Given the description of an element on the screen output the (x, y) to click on. 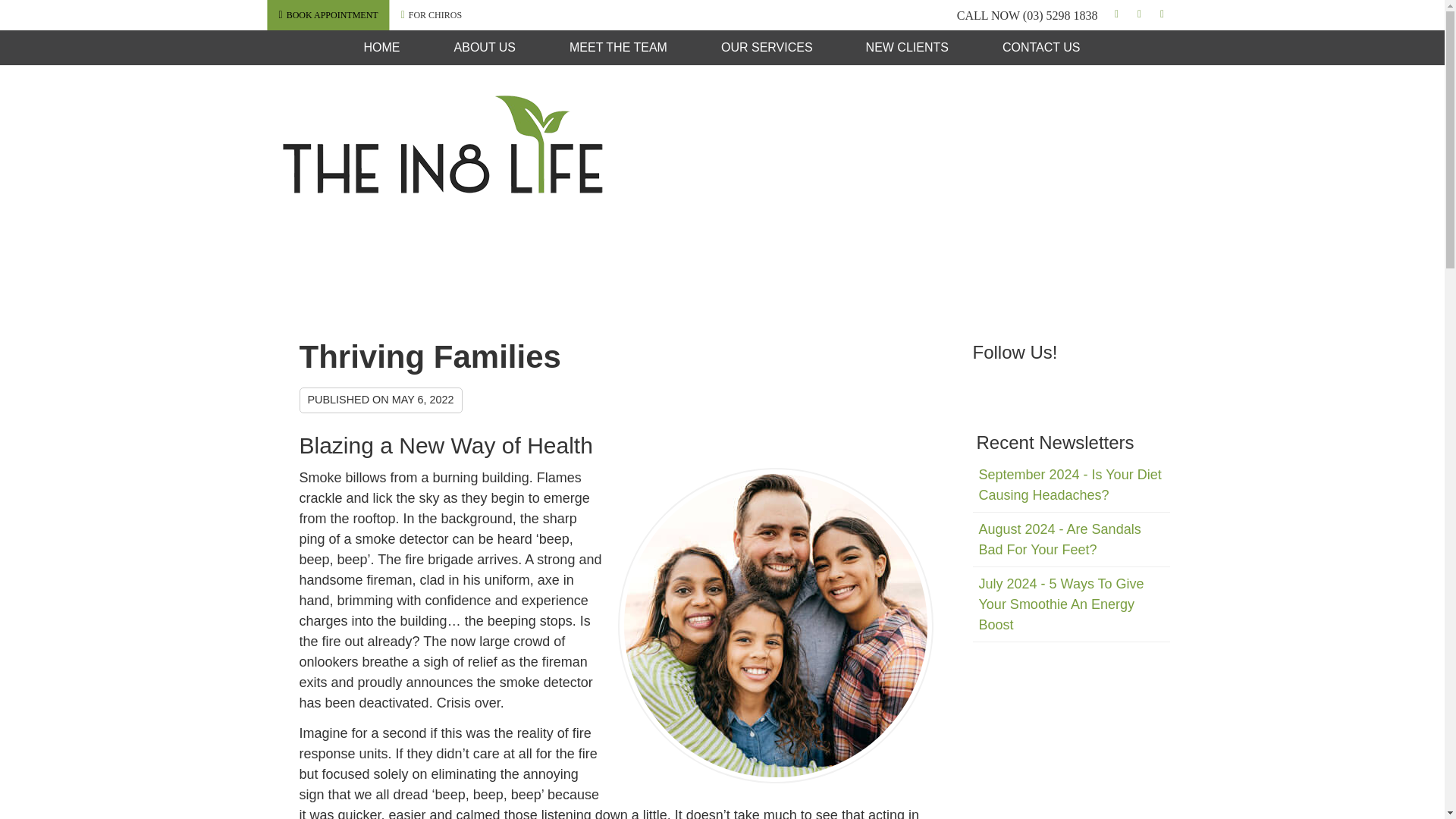
Instagram Social Button (1138, 14)
The IN8 Life (442, 188)
BOOK APPOINTMENT (327, 14)
OUR SERVICES (767, 47)
MEET THE TEAM (618, 47)
CONTACT US (1041, 47)
ABOUT US (485, 47)
Youtube Social Button (1161, 14)
Recent Newlsetters List (1070, 549)
FOR CHIROS (430, 14)
